Given the description of an element on the screen output the (x, y) to click on. 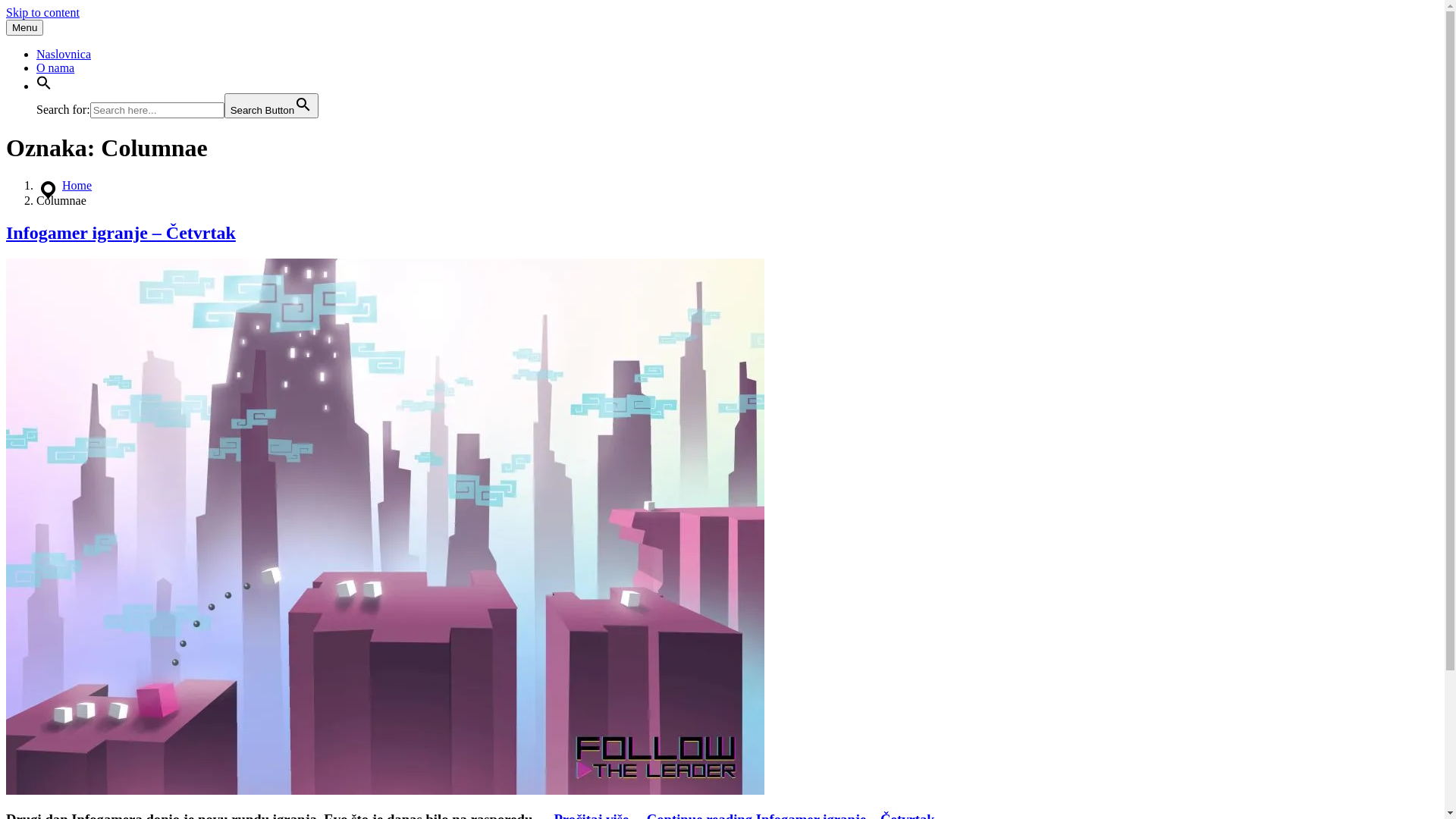
Menu Element type: text (24, 27)
Search Button Element type: text (271, 105)
Naslovnica Element type: text (63, 53)
Skip to content Element type: text (42, 12)
O nama Element type: text (55, 67)
Home Element type: text (76, 184)
